Given the description of an element on the screen output the (x, y) to click on. 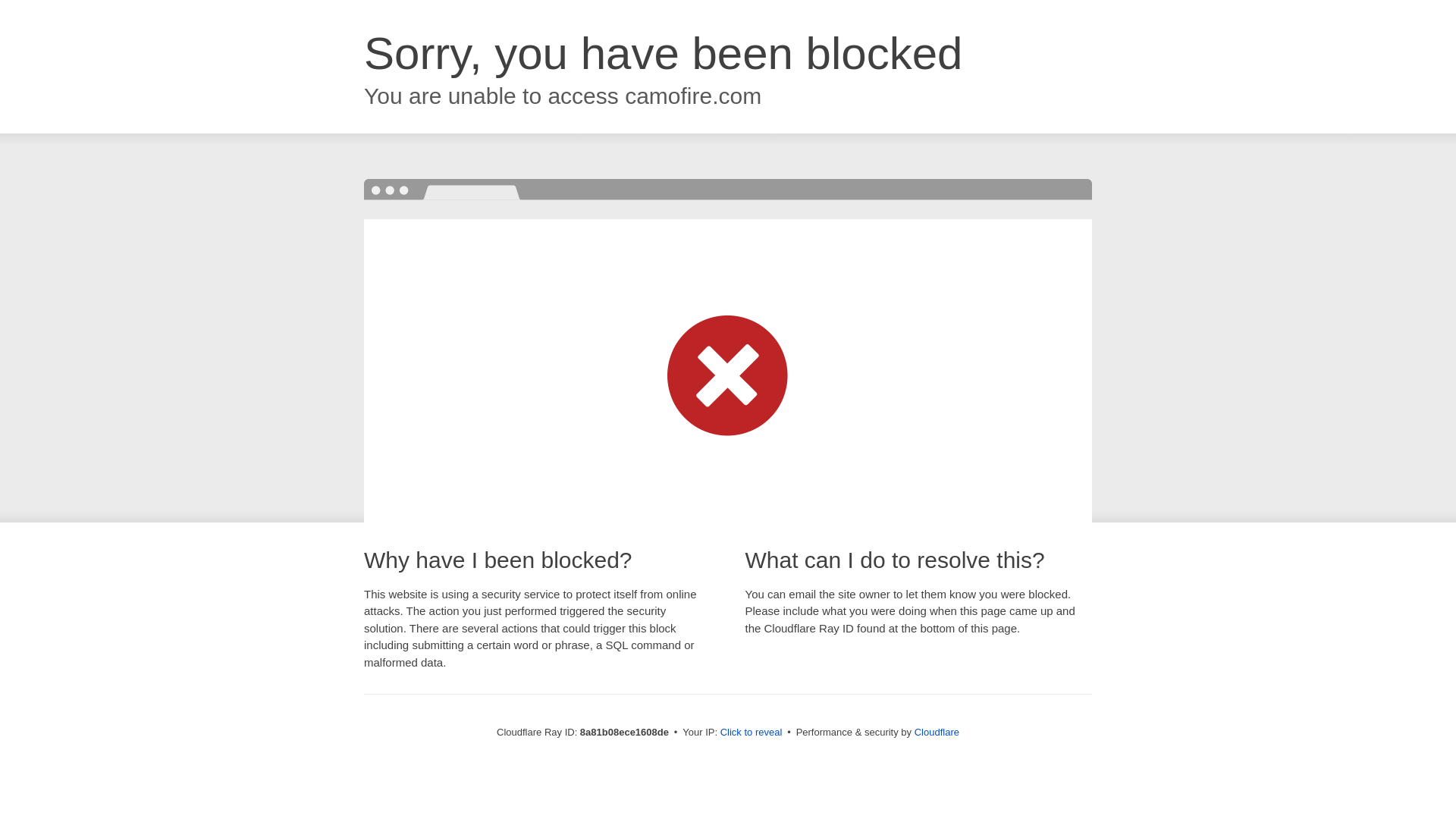
Click to reveal (751, 732)
Cloudflare (936, 731)
